Given the description of an element on the screen output the (x, y) to click on. 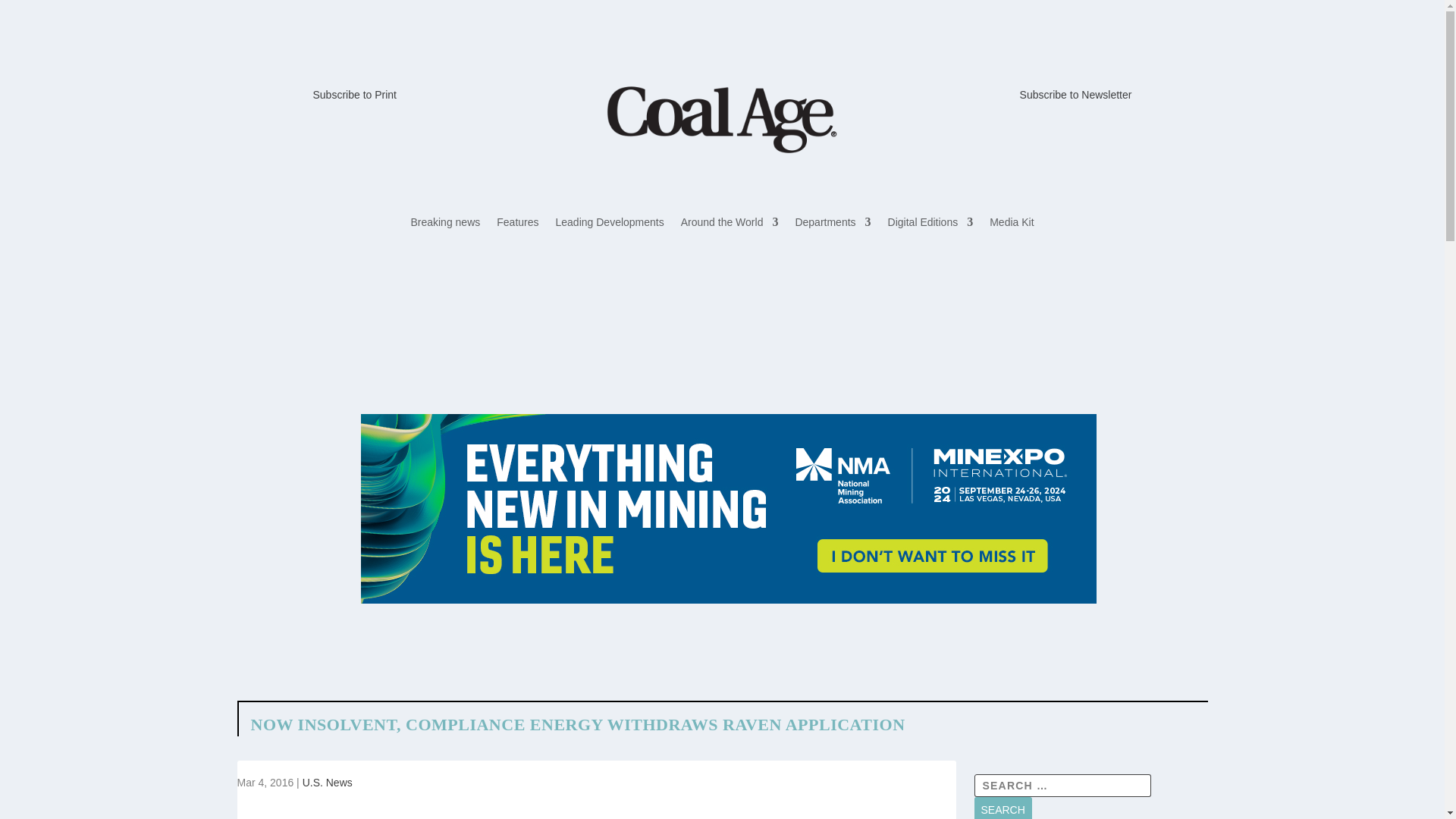
Search (1002, 807)
Subscribe to Newsletter (1076, 94)
Leading Developments (609, 225)
Around the World (729, 225)
Departments (832, 225)
Coal Age logo (721, 119)
Digital Editions (931, 225)
Subscribe to Print (354, 94)
Media Kit (1011, 225)
Search (1002, 807)
Breaking news (445, 225)
U.S. News (327, 782)
Features (517, 225)
